Given the description of an element on the screen output the (x, y) to click on. 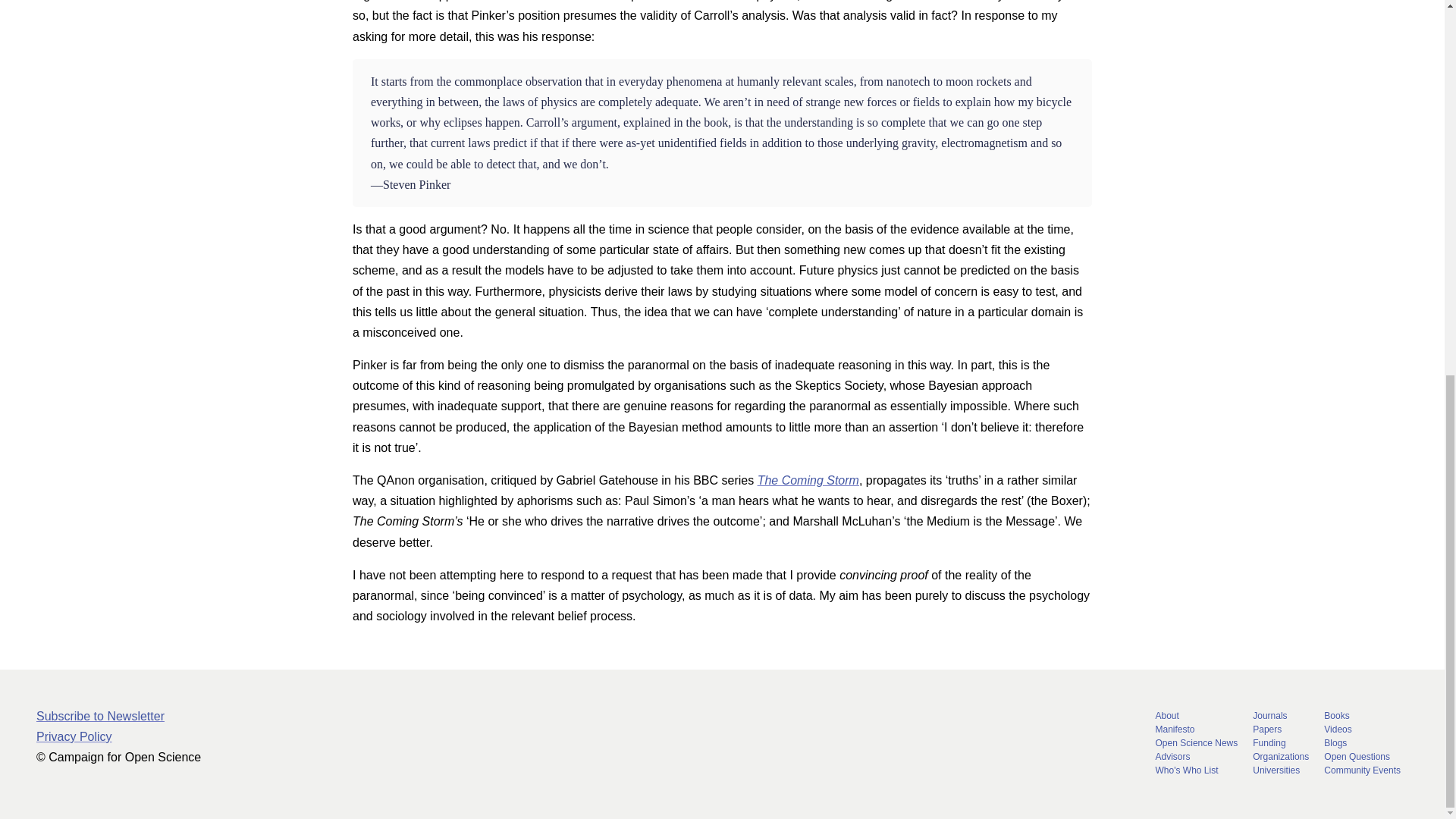
Advisors (1197, 756)
Papers (1280, 729)
Funding (1280, 742)
Blogs (1361, 742)
Manifesto (1197, 729)
About (1197, 715)
Organizations (1280, 756)
Books (1361, 715)
Videos (1361, 729)
Open Questions (1361, 756)
Who's Who List (1197, 770)
Universities (1280, 770)
The Coming Storm (808, 480)
Journals (1280, 715)
Open Science News (1197, 742)
